Given the description of an element on the screen output the (x, y) to click on. 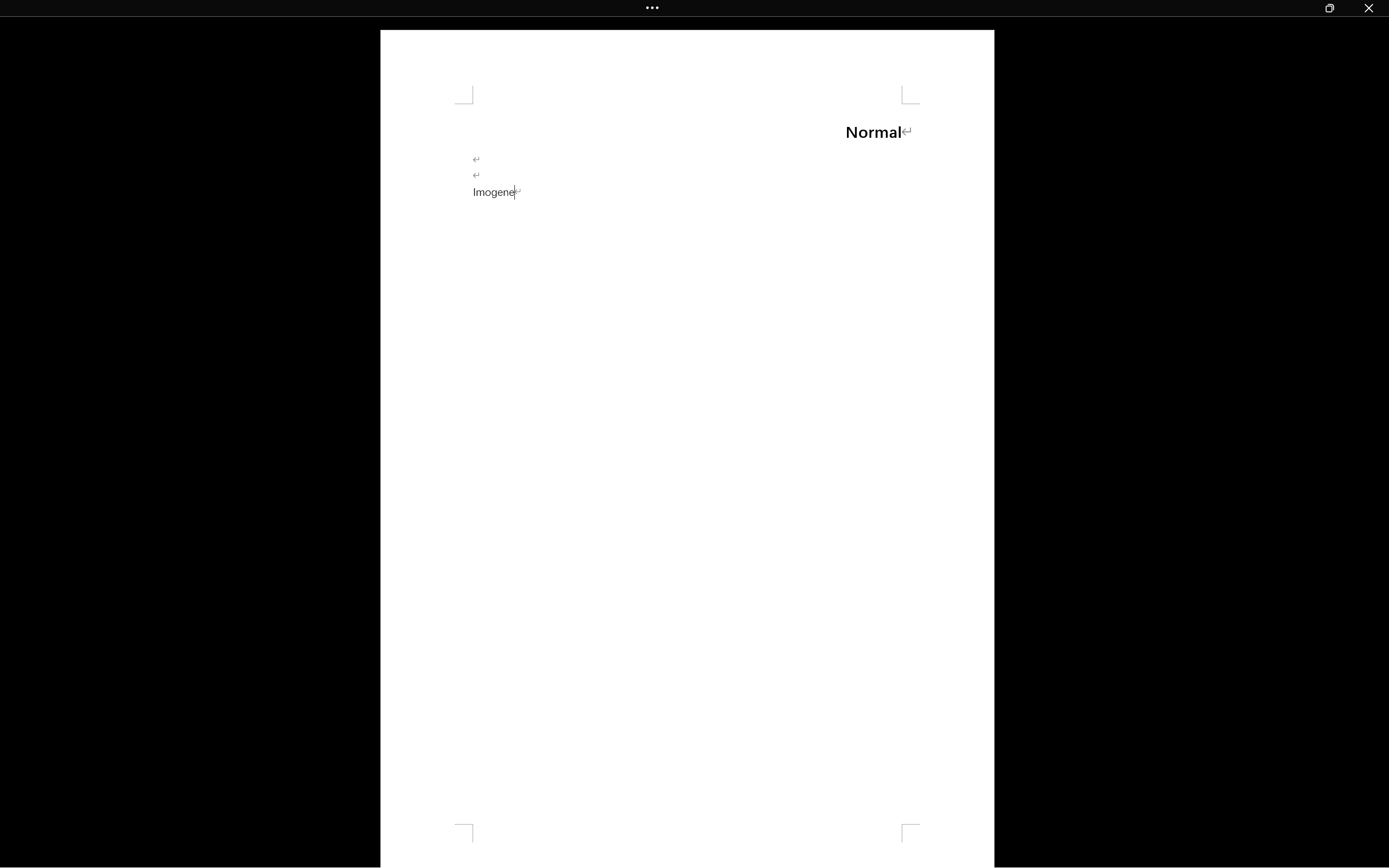
Page 1 content (687, 463)
Class: NetUIAnchor (694, 8)
Show the Ribbon (655, 8)
Class: NetUIScrollBar (1382, 441)
Class: MsoCommandBar (694, 8)
